Given the description of an element on the screen output the (x, y) to click on. 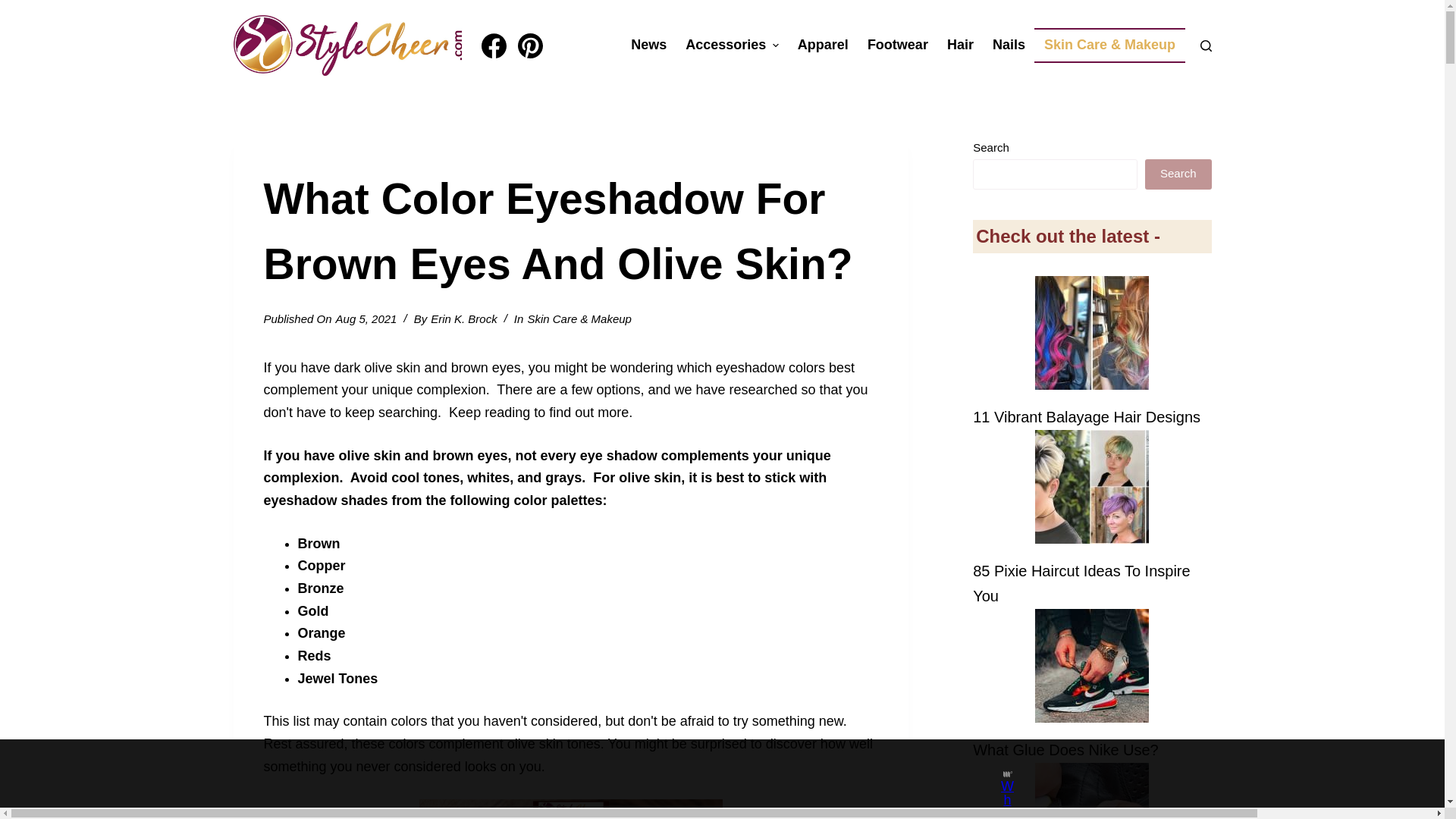
Apparel (822, 45)
News (649, 45)
3rd party ad content (708, 773)
Erin K. Brock (463, 318)
Accessories (733, 45)
Hair (959, 45)
Skip to content (15, 7)
What Color Eyeshadow For Brown Eyes And Olive Skin? (570, 231)
Footwear (897, 45)
Posts by Erin K. Brock (463, 318)
Nails (1007, 45)
